Given the description of an element on the screen output the (x, y) to click on. 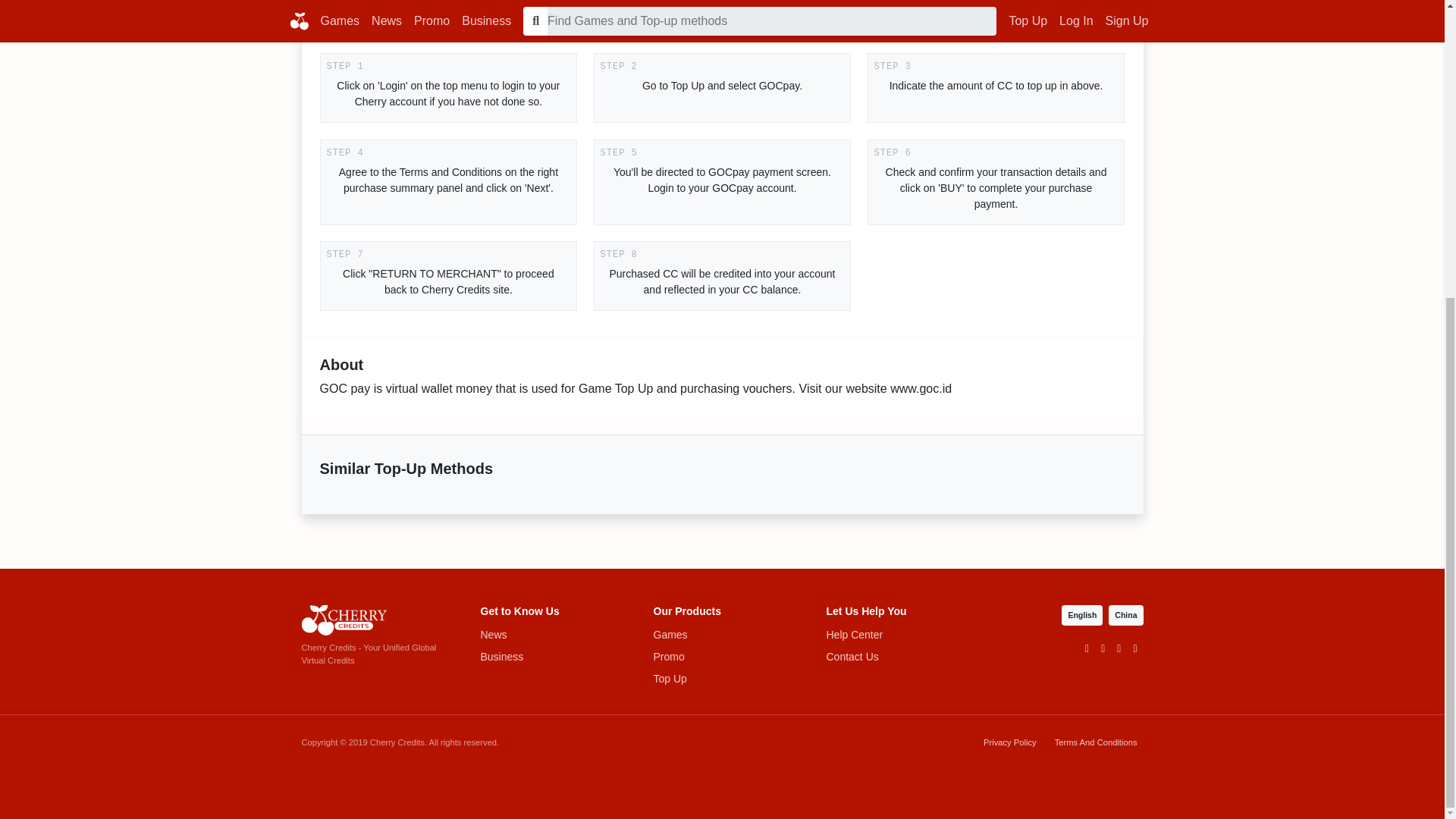
English (1081, 615)
Contact Us (896, 657)
Games (722, 635)
Top Up (722, 679)
China (1125, 615)
Help Center (896, 635)
News (549, 635)
Promo (722, 657)
Business (549, 657)
